Given the description of an element on the screen output the (x, y) to click on. 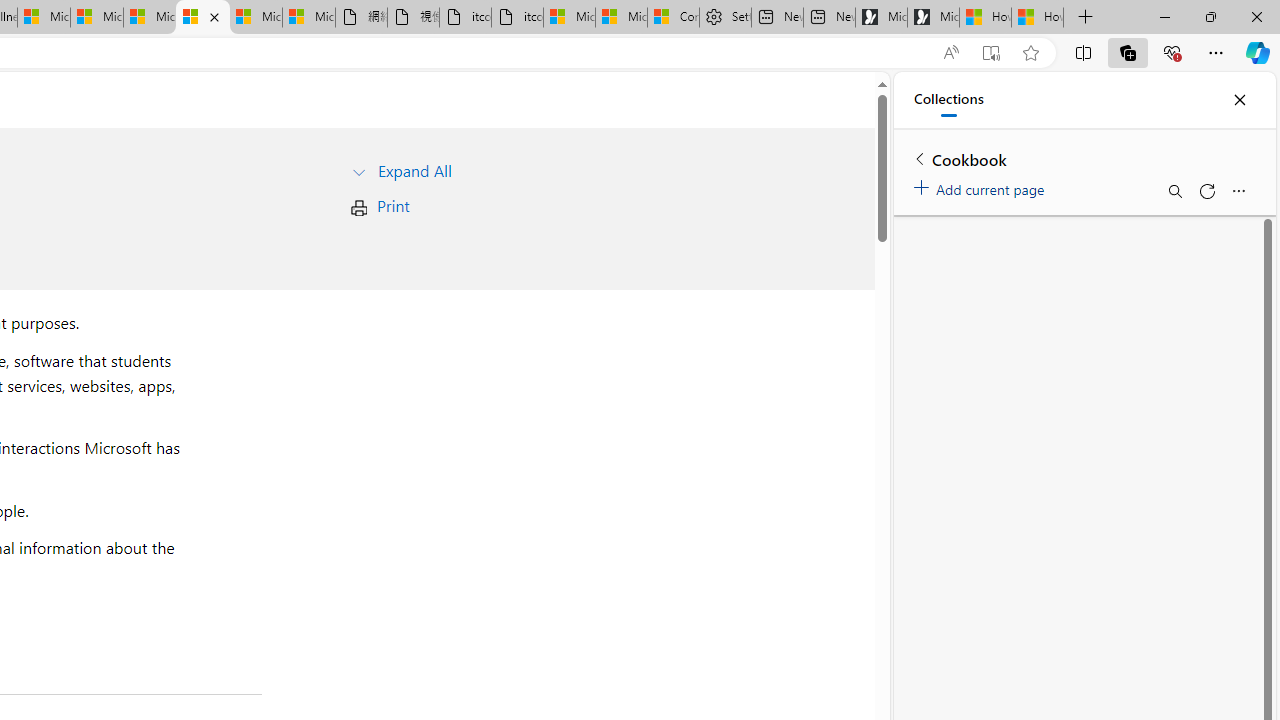
Add current page (982, 186)
Back to list of collections (920, 158)
Enter Immersive Reader (F9) (991, 53)
Print (392, 205)
Expand All (414, 170)
